Given the description of an element on the screen output the (x, y) to click on. 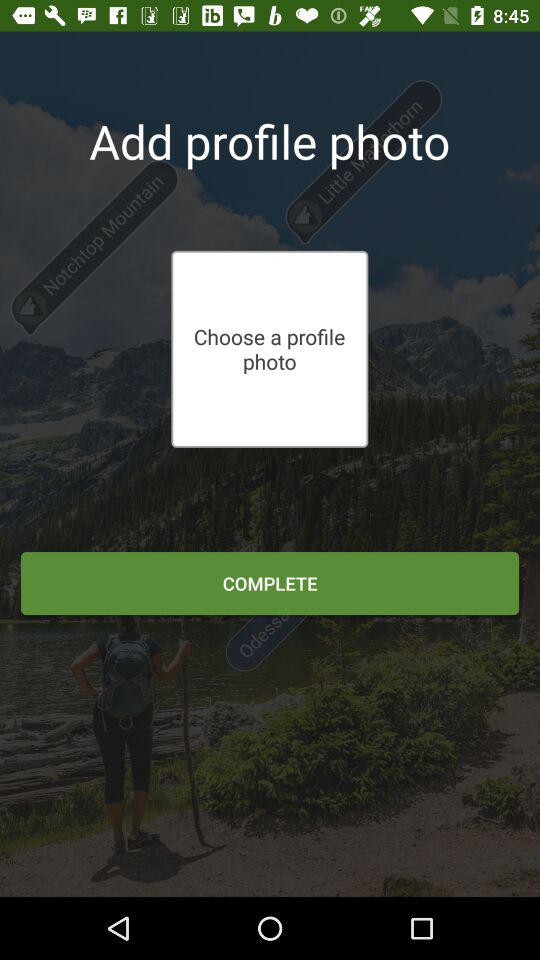
jump to the choose a profile item (269, 349)
